Given the description of an element on the screen output the (x, y) to click on. 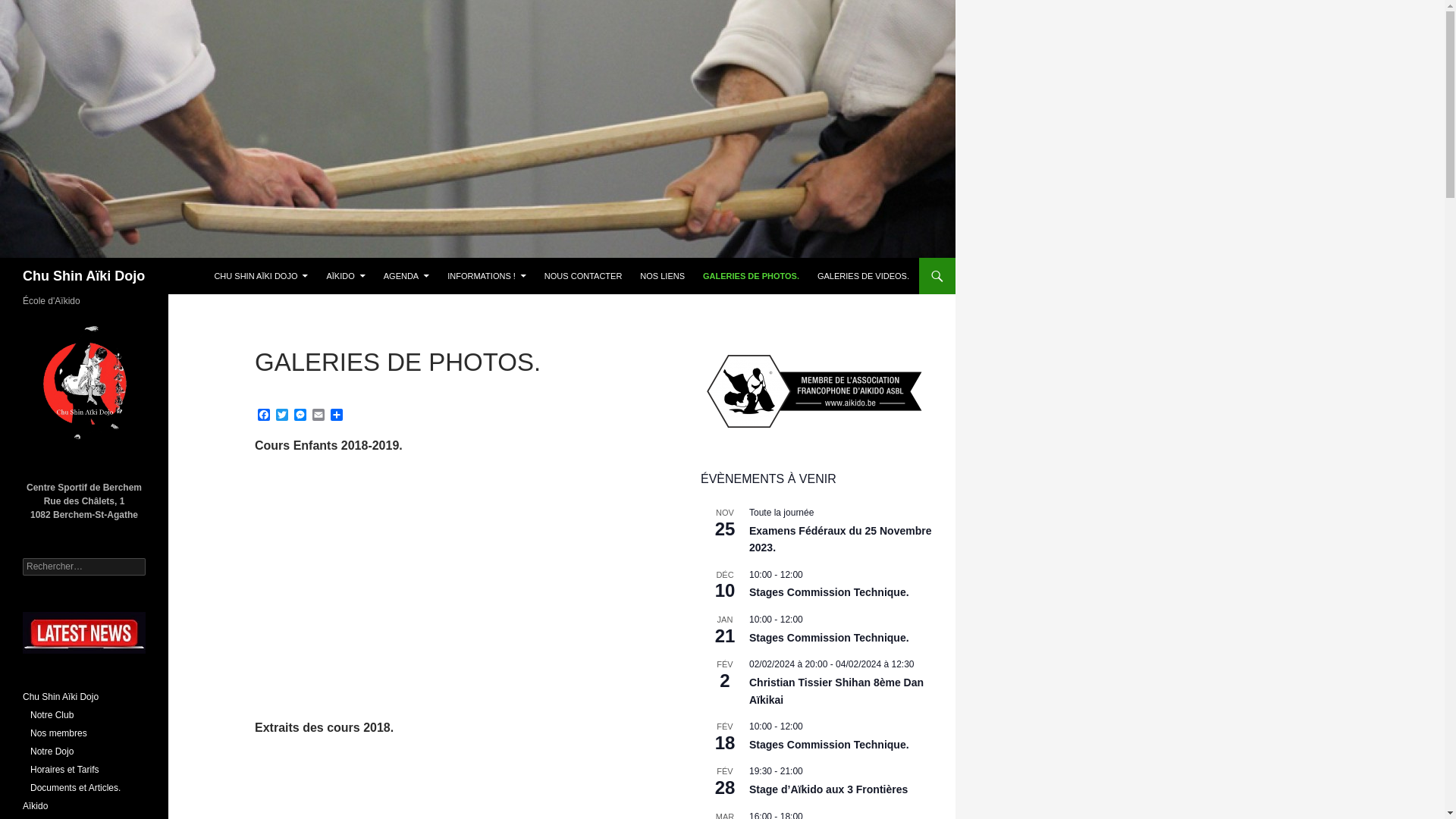
Notre Club Element type: text (51, 714)
Email Element type: text (318, 415)
Notre Dojo Element type: text (51, 751)
Stages Commission Technique. Element type: text (829, 592)
AGENDA Element type: text (406, 275)
GALERIES DE VIDEOS. Element type: text (863, 275)
GALERIES DE PHOTOS. Element type: text (750, 275)
Documents et Articles. Element type: text (75, 787)
Recherche Element type: text (3, 257)
Horaires et Tarifs Element type: text (64, 769)
Partager Element type: text (336, 415)
Stages Commission Technique. Element type: text (829, 744)
NOUS CONTACTER Element type: text (582, 275)
Stages Commission Technique. Element type: text (829, 637)
Twitter Element type: text (282, 415)
ALLER AU CONTENU Element type: text (212, 257)
NOS LIENS Element type: text (661, 275)
Facebook Element type: text (263, 415)
Nos membres Element type: text (58, 733)
INFORMATIONS ! Element type: text (486, 275)
Rechercher Element type: text (43, 8)
Messenger Element type: text (300, 415)
